Given the description of an element on the screen output the (x, y) to click on. 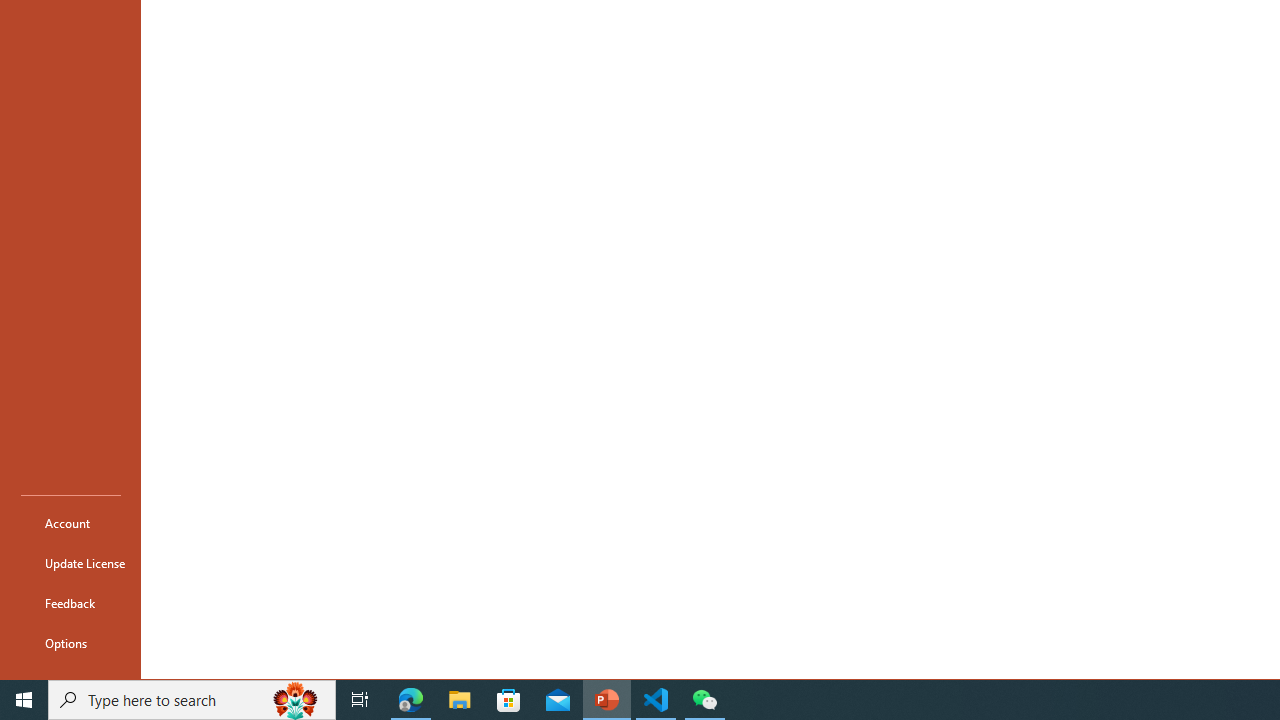
Feedback (70, 602)
Visual Studio Code - 1 running window (656, 699)
Type here to search (191, 699)
PowerPoint - 1 running window (607, 699)
Update License (70, 562)
Start (24, 699)
Microsoft Edge - 1 running window (411, 699)
Search highlights icon opens search home window (295, 699)
Account (70, 522)
WeChat - 1 running window (704, 699)
File Explorer (460, 699)
Options (70, 642)
Task View (359, 699)
Microsoft Store (509, 699)
